Given the description of an element on the screen output the (x, y) to click on. 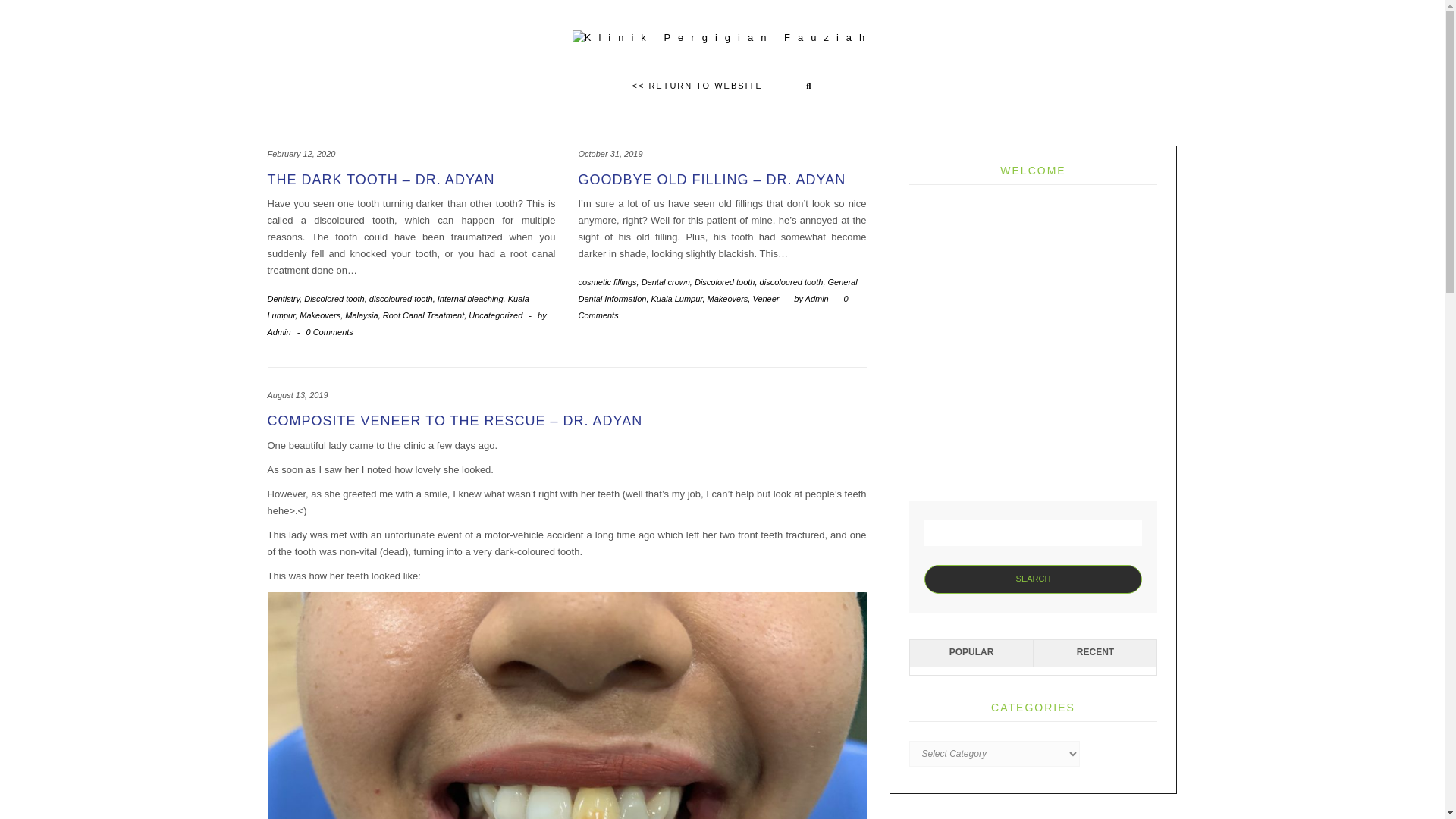
Uncategorized (495, 315)
0 Comments (328, 331)
General Dental Information (717, 290)
Internal bleaching (470, 298)
August 13, 2019 (296, 394)
Root Canal Treatment (423, 315)
0 Comments (712, 307)
Discolored tooth (724, 281)
Discolored tooth (334, 298)
Makeovers (727, 298)
